Given the description of an element on the screen output the (x, y) to click on. 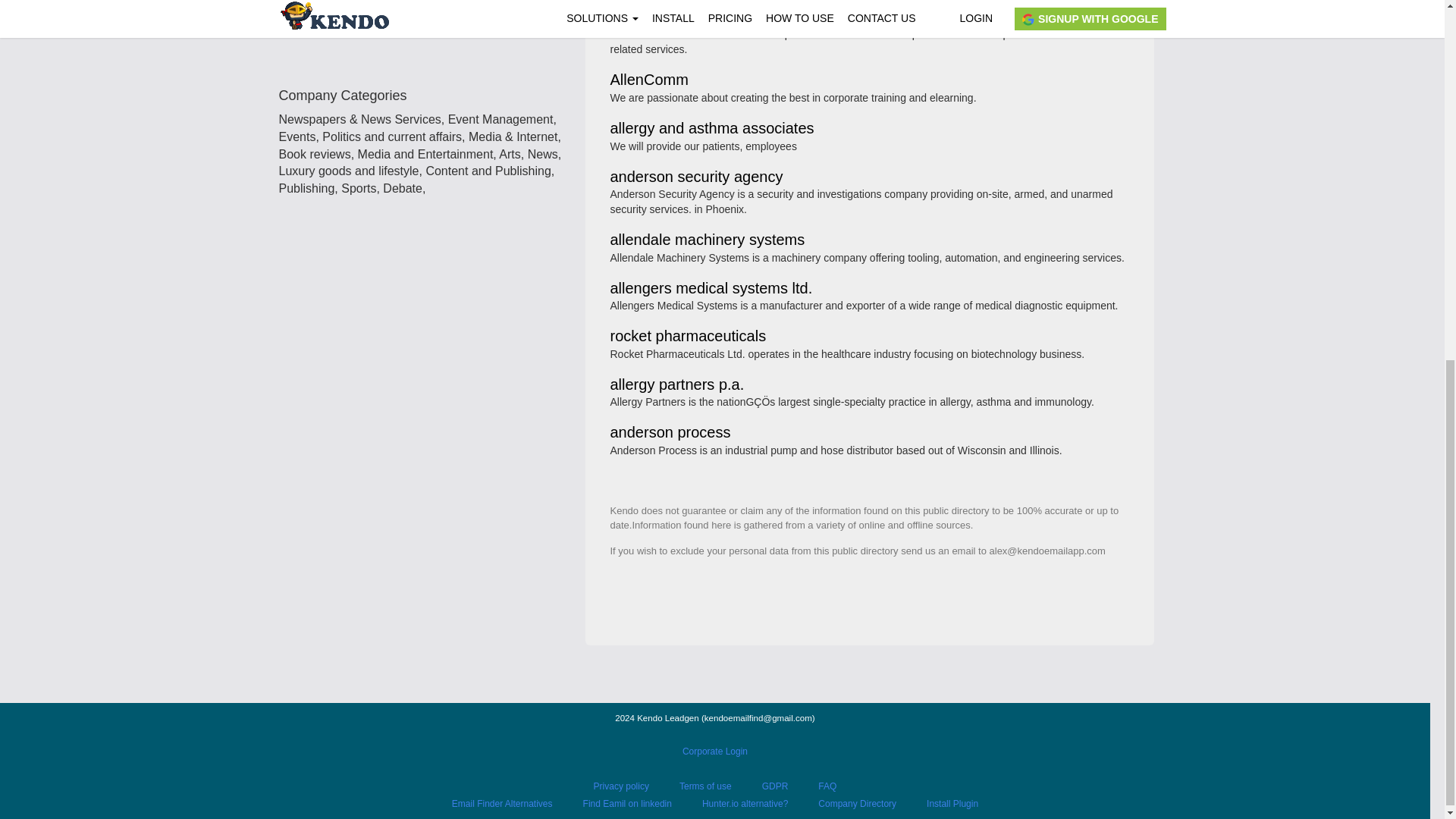
Corporate Login (715, 751)
AllenComm (648, 80)
allergy and asthma associates (711, 128)
allengers medical systems ltd. (711, 288)
allendale machinery systems (707, 240)
anderson process (670, 432)
allergy partners p.a. (677, 385)
Rocket Software (665, 17)
anderson security agency (696, 177)
Find anyone's contact info. (425, 38)
rocket pharmaceuticals (687, 336)
